Given the description of an element on the screen output the (x, y) to click on. 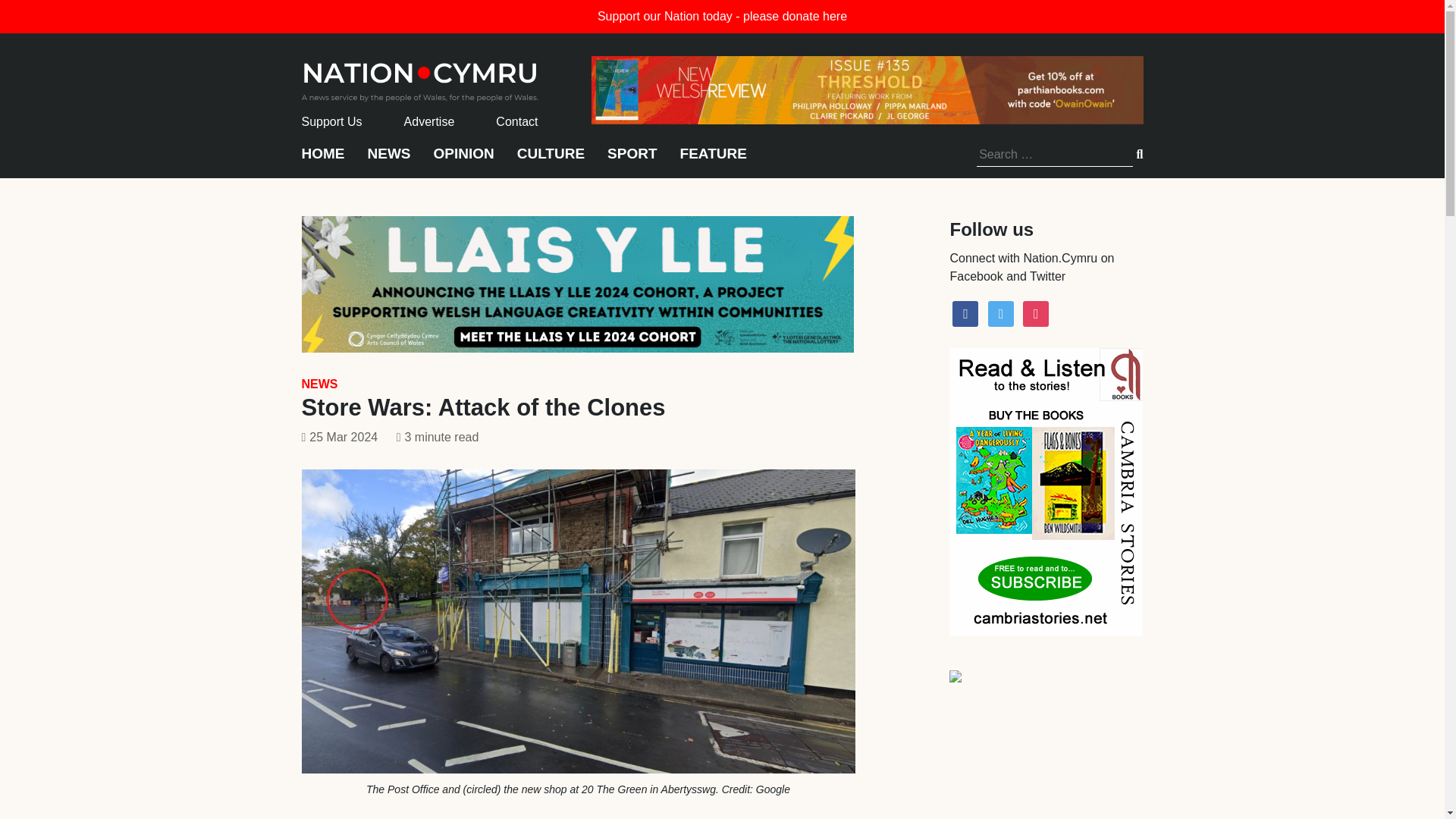
Advertise (429, 121)
OPINION (464, 160)
Contact (516, 121)
home (419, 77)
FEATURE (712, 160)
SPORT (631, 160)
CULTURE (550, 160)
NEWS (388, 160)
Support Us (331, 121)
HOME (323, 160)
NEWS (319, 383)
